Given the description of an element on the screen output the (x, y) to click on. 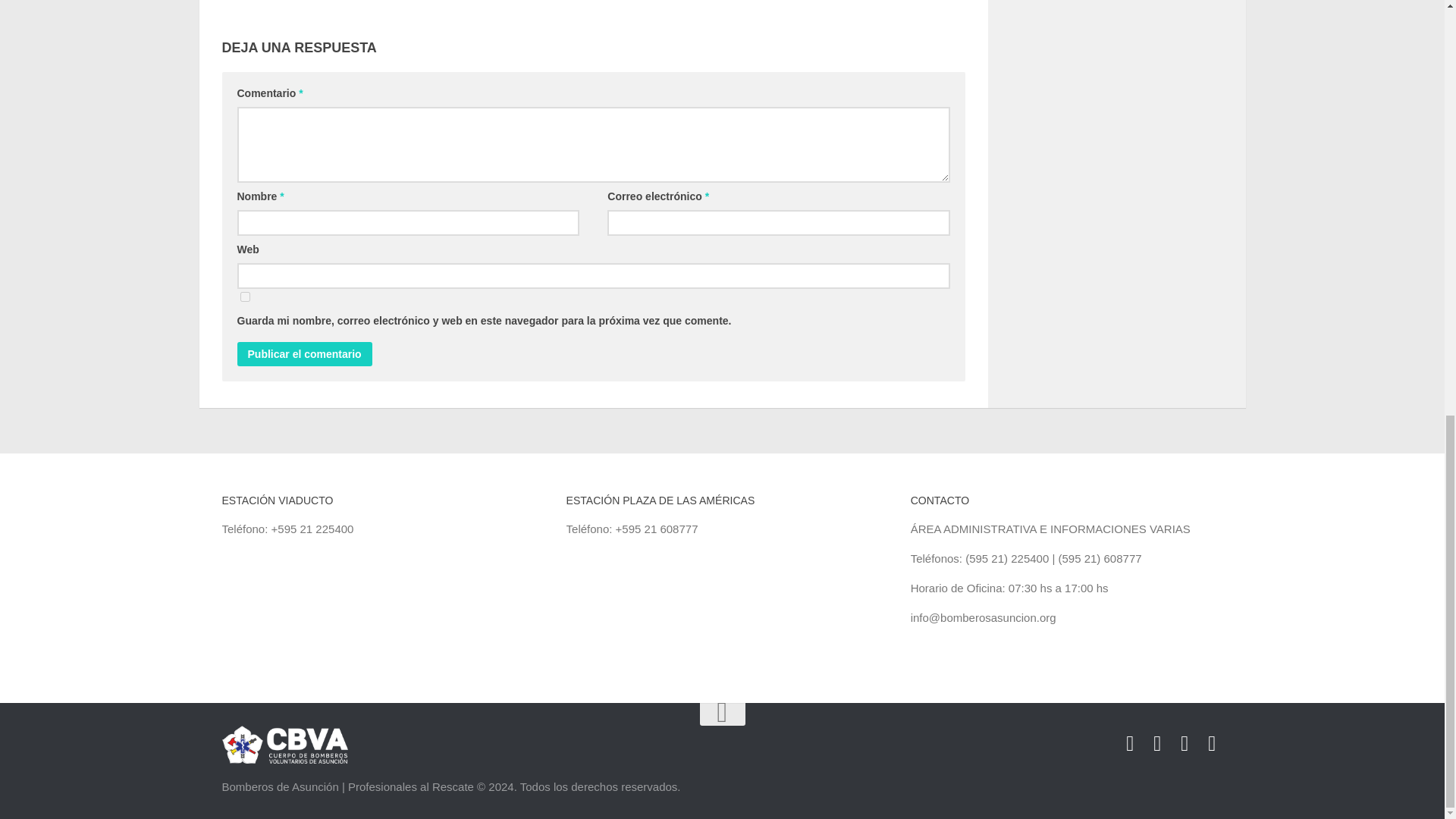
yes (244, 296)
Publicar el comentario (303, 354)
